Given the description of an element on the screen output the (x, y) to click on. 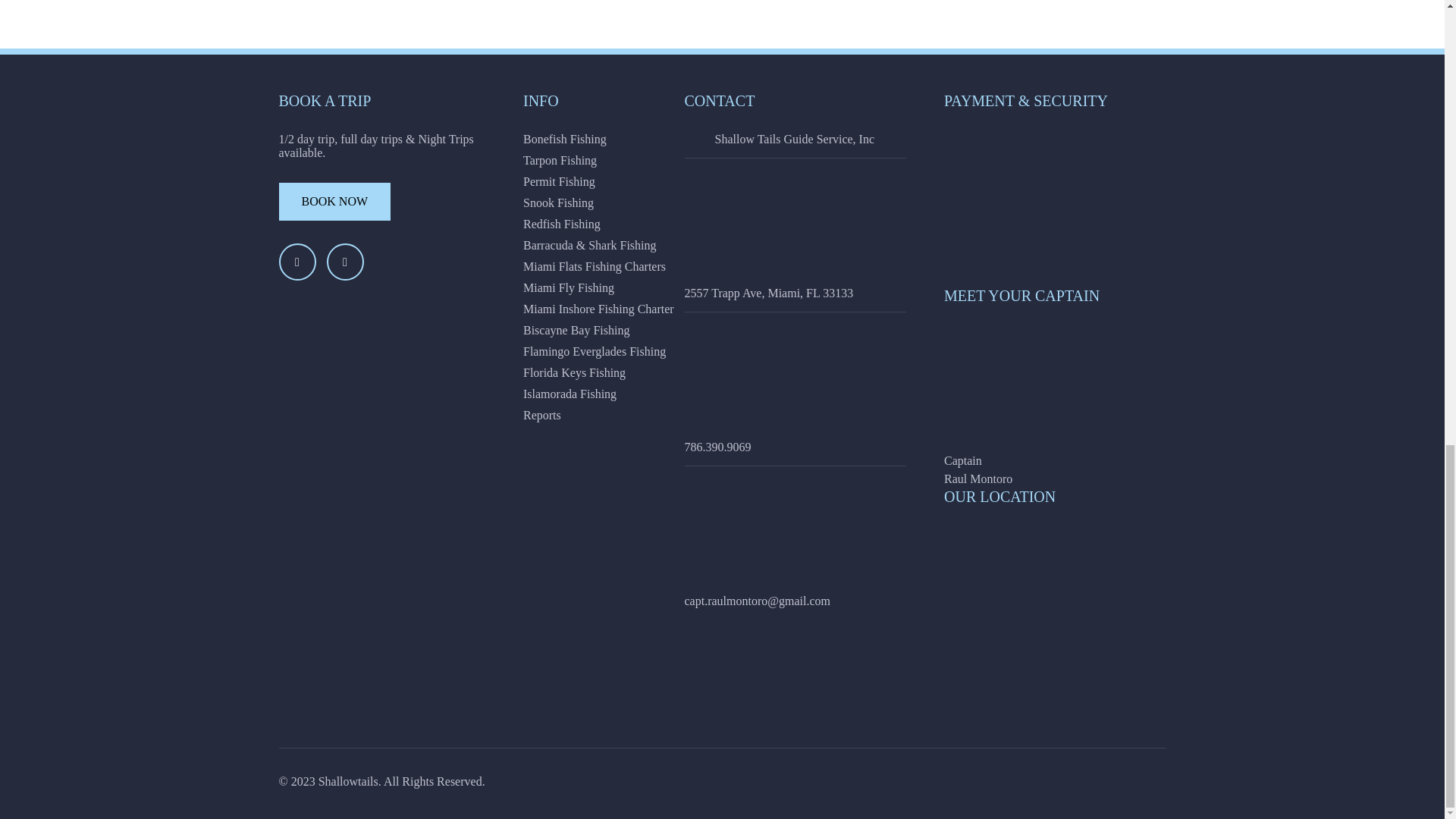
Visit Shallow Tails IG (297, 261)
Permit Fishing (633, 182)
Bonefish Fishing (633, 139)
Redfish Fishing (633, 223)
Snook Fishing (633, 202)
Miami Fly Fishing (633, 287)
Miami Flats Fishing Charters (633, 266)
Tarpon Fishing (633, 160)
Visit Shallow Tails YT (344, 261)
BOOK NOW (335, 201)
